Given the description of an element on the screen output the (x, y) to click on. 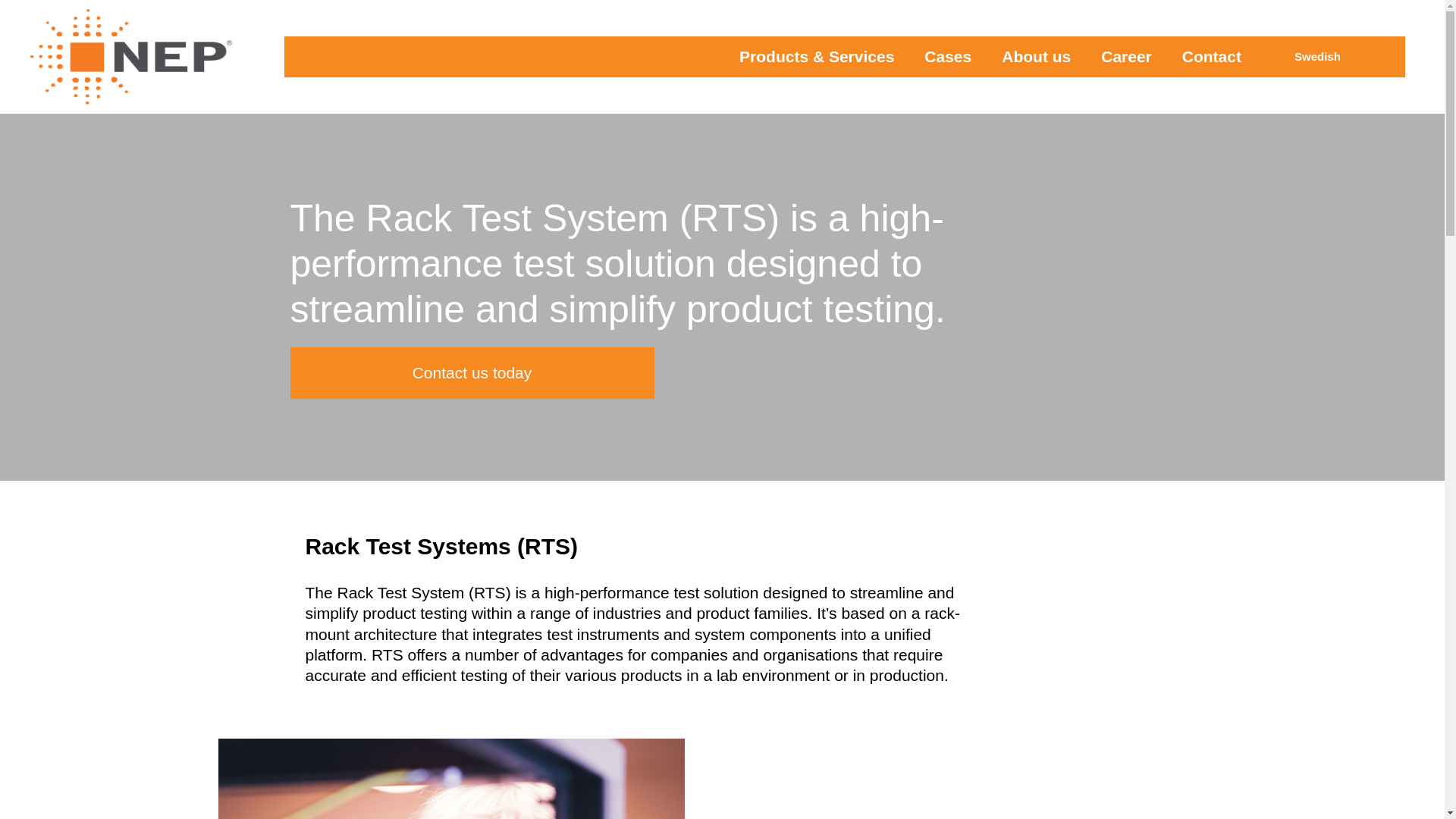
About us (1036, 56)
Contact (1211, 56)
Contact us today (471, 372)
Swedish (1315, 56)
Career (1126, 56)
Cases (947, 56)
